Given the description of an element on the screen output the (x, y) to click on. 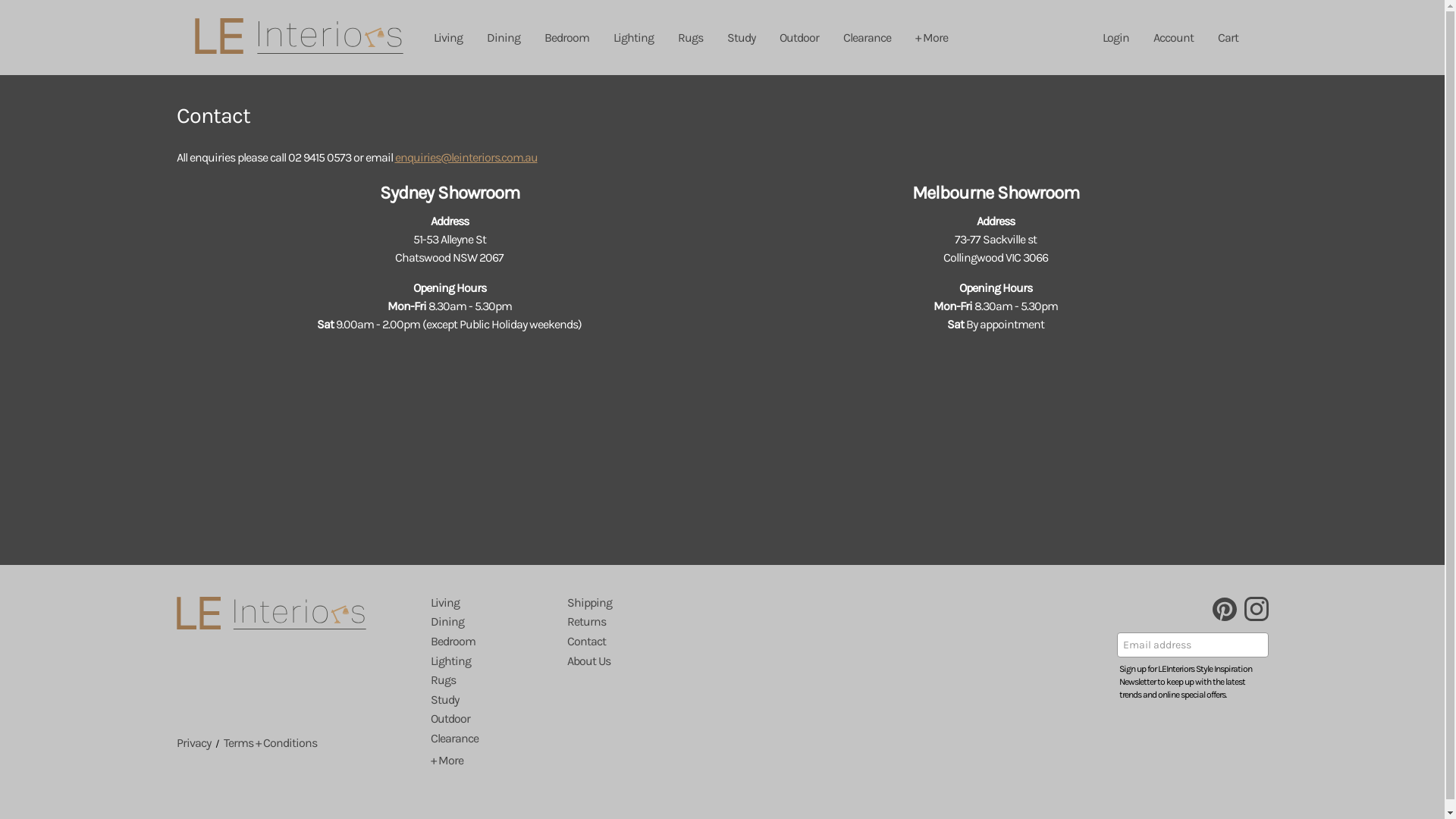
Study Element type: text (444, 699)
Dining Element type: text (503, 37)
enquiries@leinteriors.com.au Element type: text (465, 157)
Clearance Element type: text (867, 37)
Shipping Element type: text (589, 602)
Cart Element type: text (1227, 37)
Login Element type: text (1115, 37)
+ More Element type: text (446, 760)
Terms + Conditions Element type: text (269, 742)
Contact Element type: text (586, 640)
Lighting Element type: text (632, 37)
About Us Element type: text (588, 660)
Rugs Element type: text (690, 37)
+ More Element type: text (930, 37)
Lighting Element type: text (450, 660)
Dining Element type: text (447, 621)
Bedroom Element type: text (566, 37)
Privacy Element type: text (192, 742)
Living Element type: text (447, 37)
Rugs Element type: text (442, 679)
Clearance Element type: text (454, 738)
Returns Element type: text (586, 621)
Outdoor Element type: text (799, 37)
Account Element type: text (1172, 37)
Bedroom Element type: text (452, 640)
Study Element type: text (740, 37)
Living Element type: text (444, 602)
Outdoor Element type: text (450, 718)
